Given the description of an element on the screen output the (x, y) to click on. 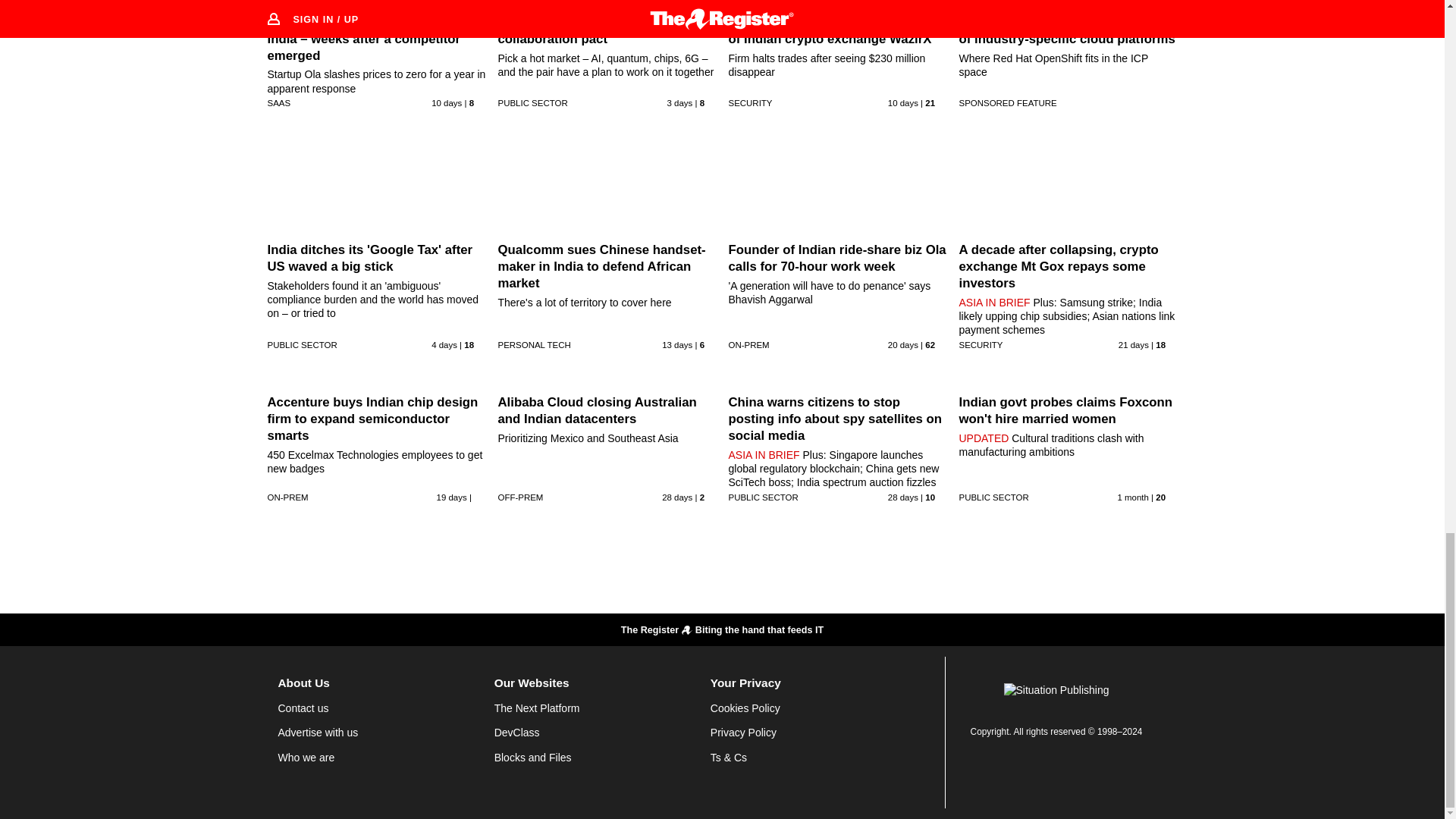
25 Jul 2024 4:58 (443, 344)
19 Jul 2024 3:31 (445, 102)
9 Jul 2024 5:31 (903, 344)
10 Jul 2024 4:14 (451, 497)
8 Jul 2024 0:44 (1133, 344)
19 Jul 2024 5:59 (903, 102)
1 Jul 2024 0:19 (677, 497)
26 Jul 2024 5:58 (679, 102)
16 Jul 2024 7:31 (677, 344)
